Given the description of an element on the screen output the (x, y) to click on. 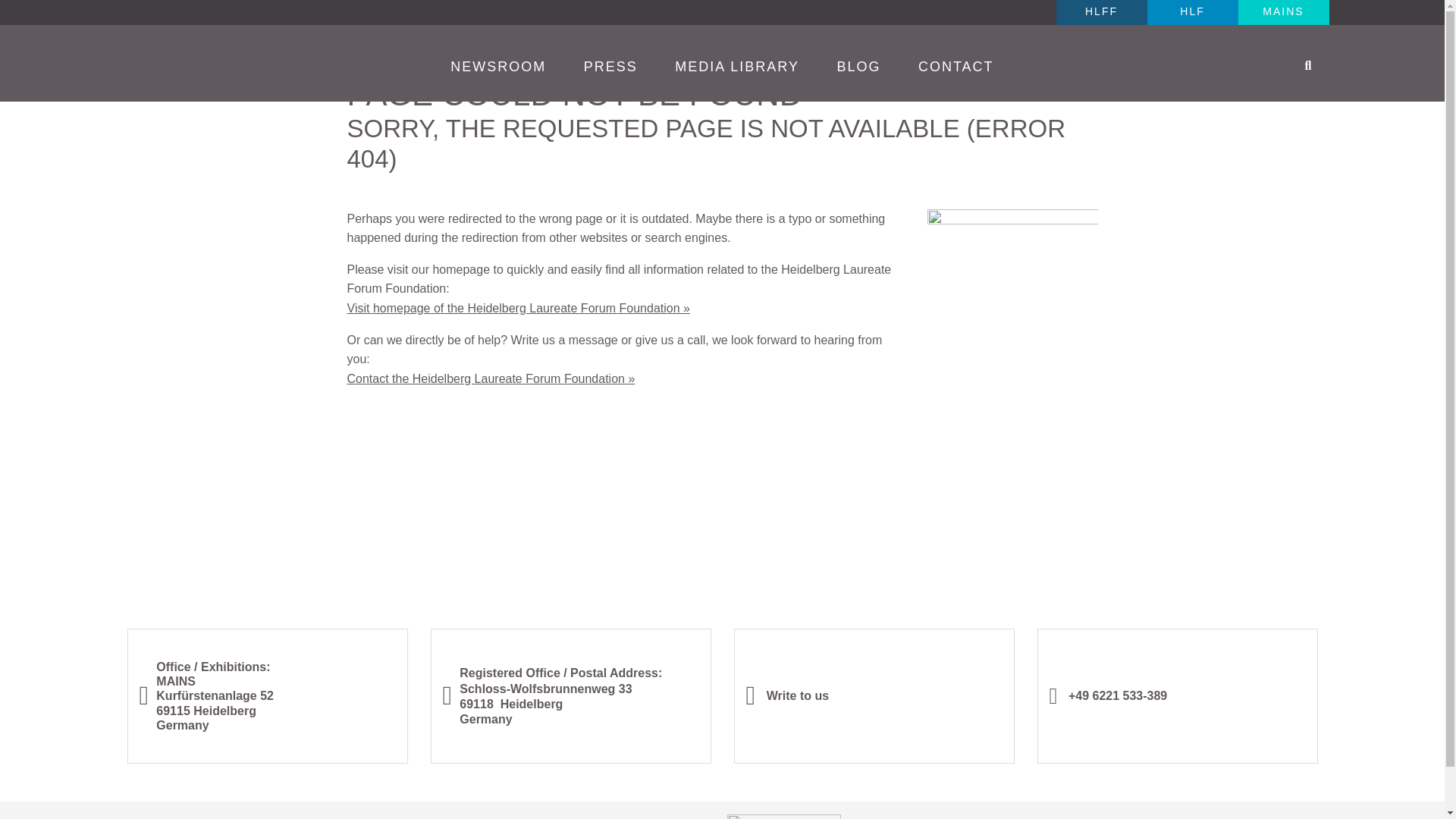
HLF (1192, 12)
HLFF (1101, 12)
CONTACT (956, 66)
Write to us (787, 695)
Visit homepage of the Heidelberg Laureate Forum Foundation (518, 308)
NEWSROOM (498, 66)
BLOG (858, 66)
Forum (1192, 12)
Contact (956, 66)
PRESS (610, 66)
MAINS (1282, 12)
Newsroom (498, 66)
HLFF (1101, 12)
Media Library (736, 66)
MEDIA LIBRARY (736, 66)
